Given the description of an element on the screen output the (x, y) to click on. 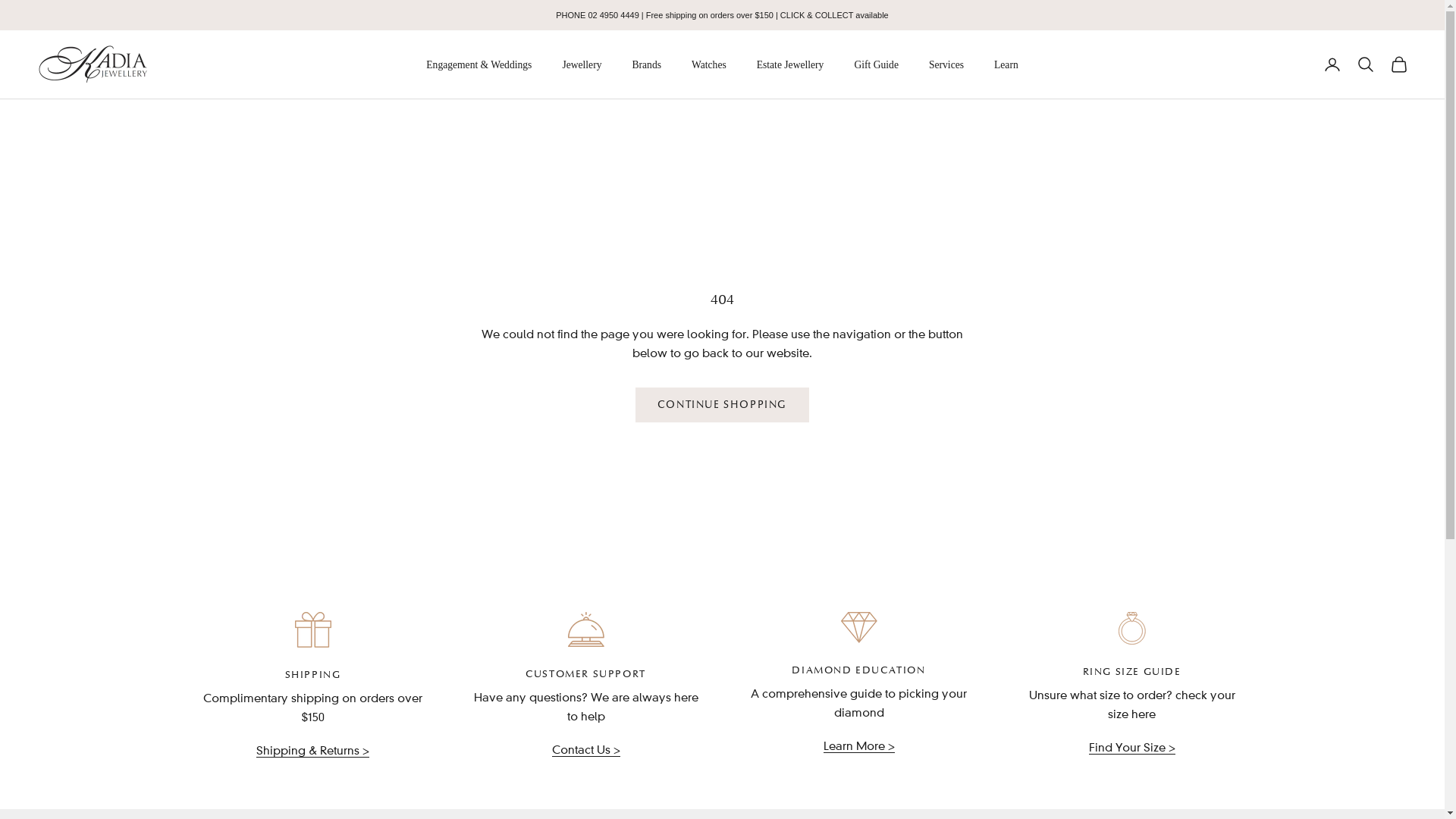
Kadia Jewellery Element type: text (93, 64)
CONTINUE SHOPPING Element type: text (722, 404)
Contact Us > Element type: text (586, 749)
Learn More > Element type: text (858, 746)
Find Your Size > Element type: text (1131, 747)
Open cart Element type: text (1399, 64)
Open search Element type: text (1365, 64)
Open account page Element type: text (1332, 64)
Shipping & Returns > Element type: text (312, 750)
